Given the description of an element on the screen output the (x, y) to click on. 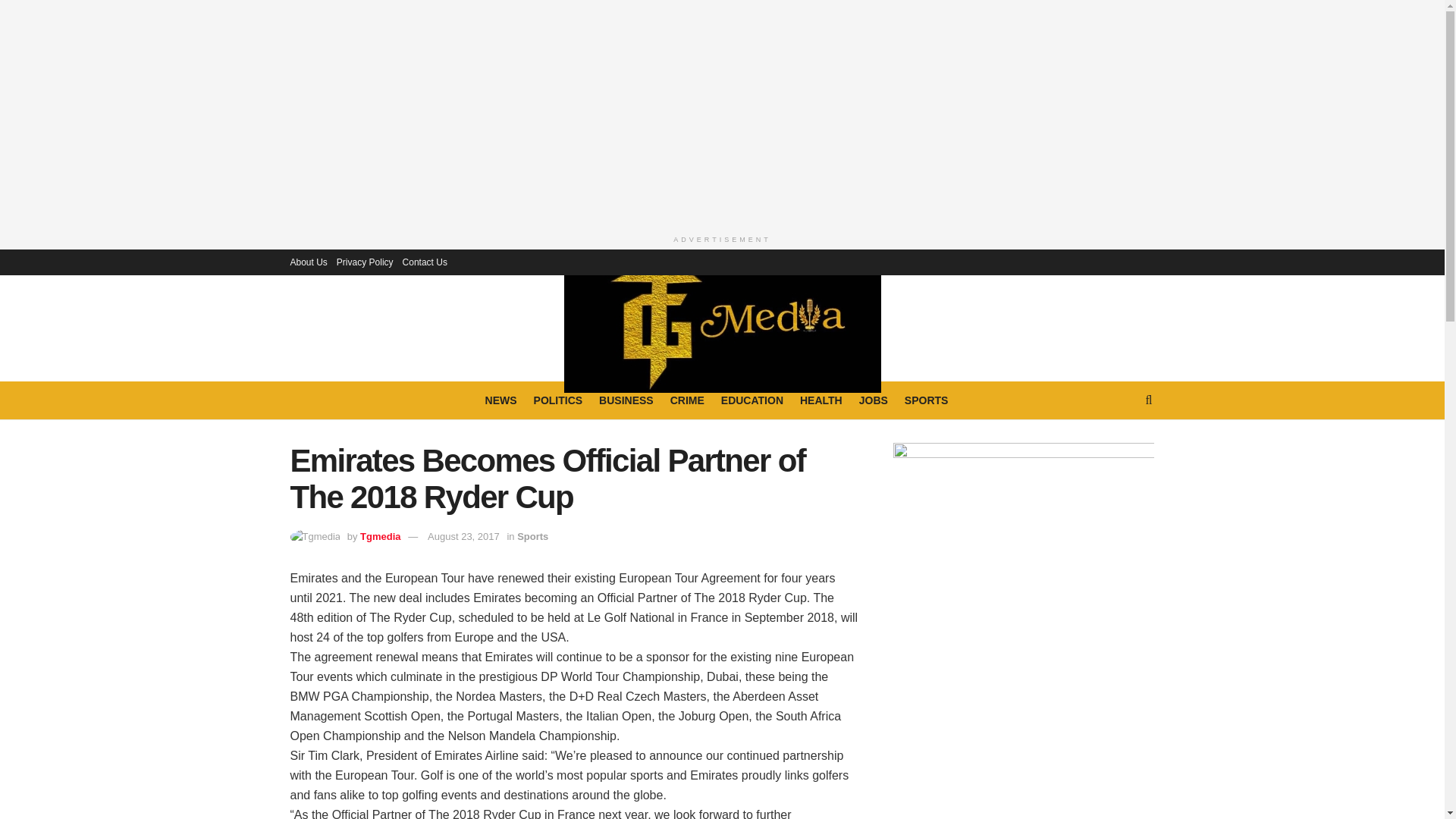
Privacy Policy (364, 261)
BUSINESS (625, 400)
EDUCATION (751, 400)
Tgmedia (379, 536)
Contact Us (424, 261)
NEWS (500, 400)
HEALTH (821, 400)
CRIME (686, 400)
SPORTS (926, 400)
JOBS (873, 400)
